Given the description of an element on the screen output the (x, y) to click on. 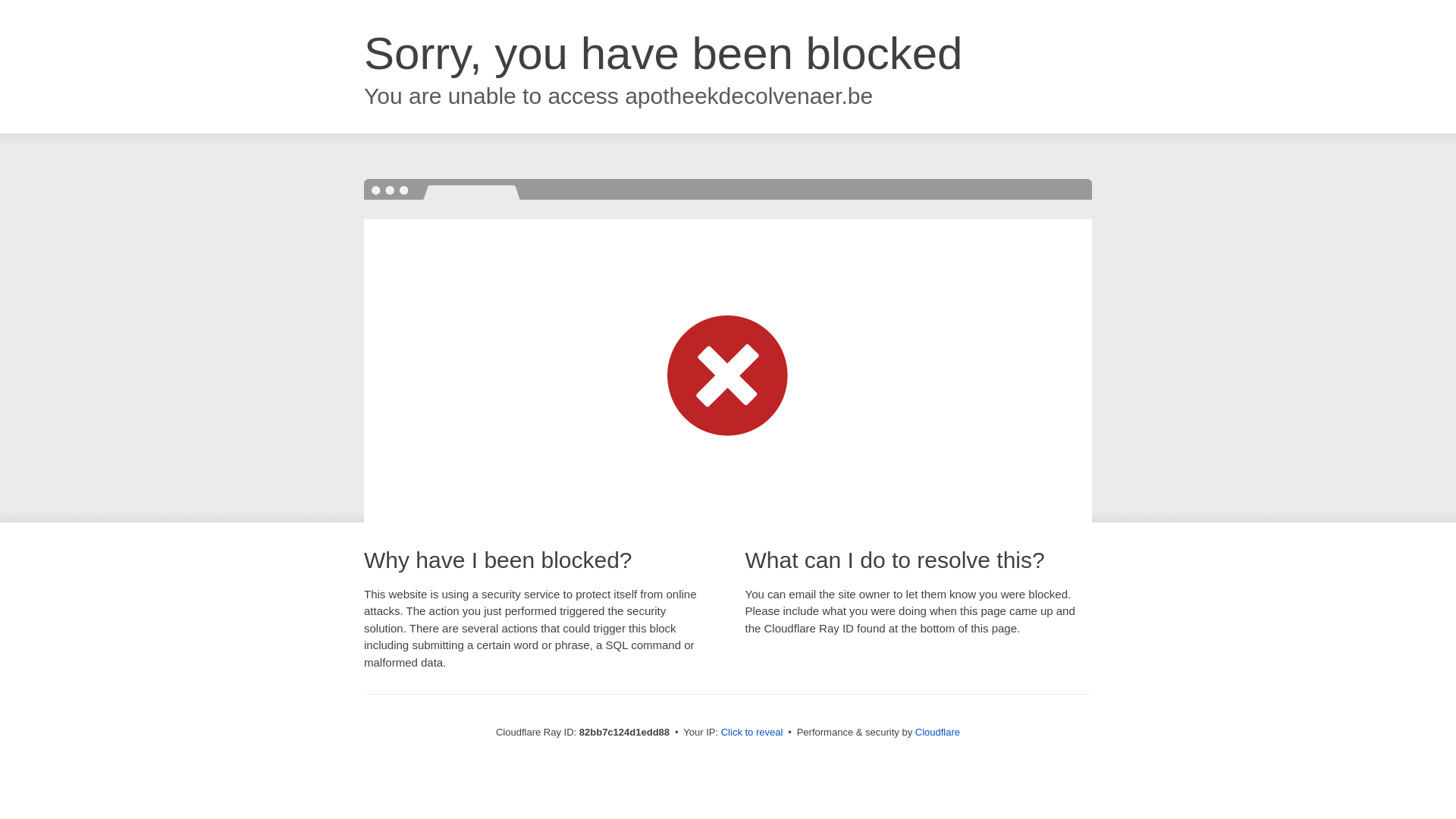
Click to reveal Element type: text (752, 732)
Cloudflare Element type: text (937, 731)
